Given the description of an element on the screen output the (x, y) to click on. 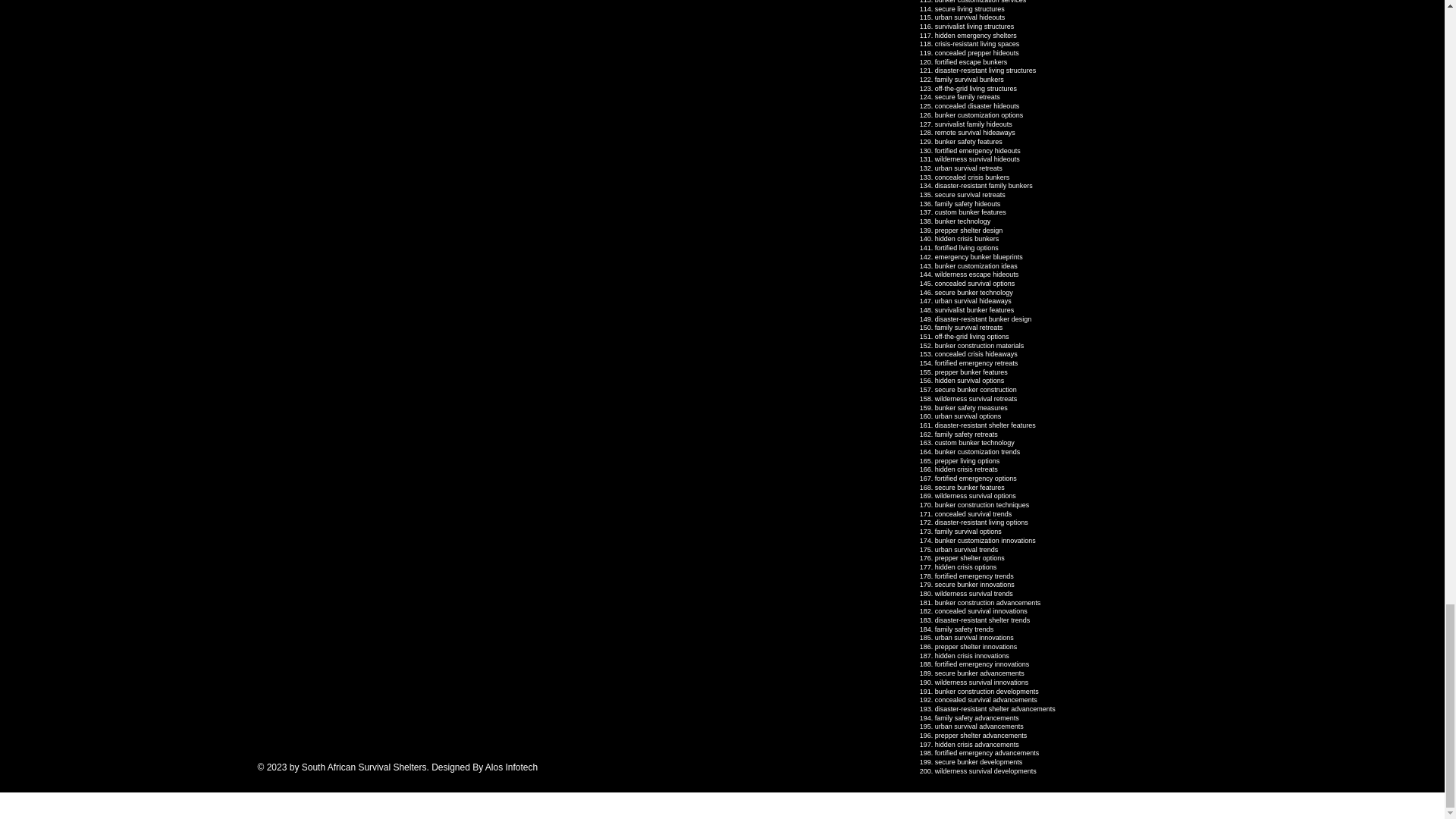
www.southafricansurvivalshelters.com (366, 167)
Alos Infotech (510, 767)
www.southafricansurvivalshelters.com (366, 664)
